Given the description of an element on the screen output the (x, y) to click on. 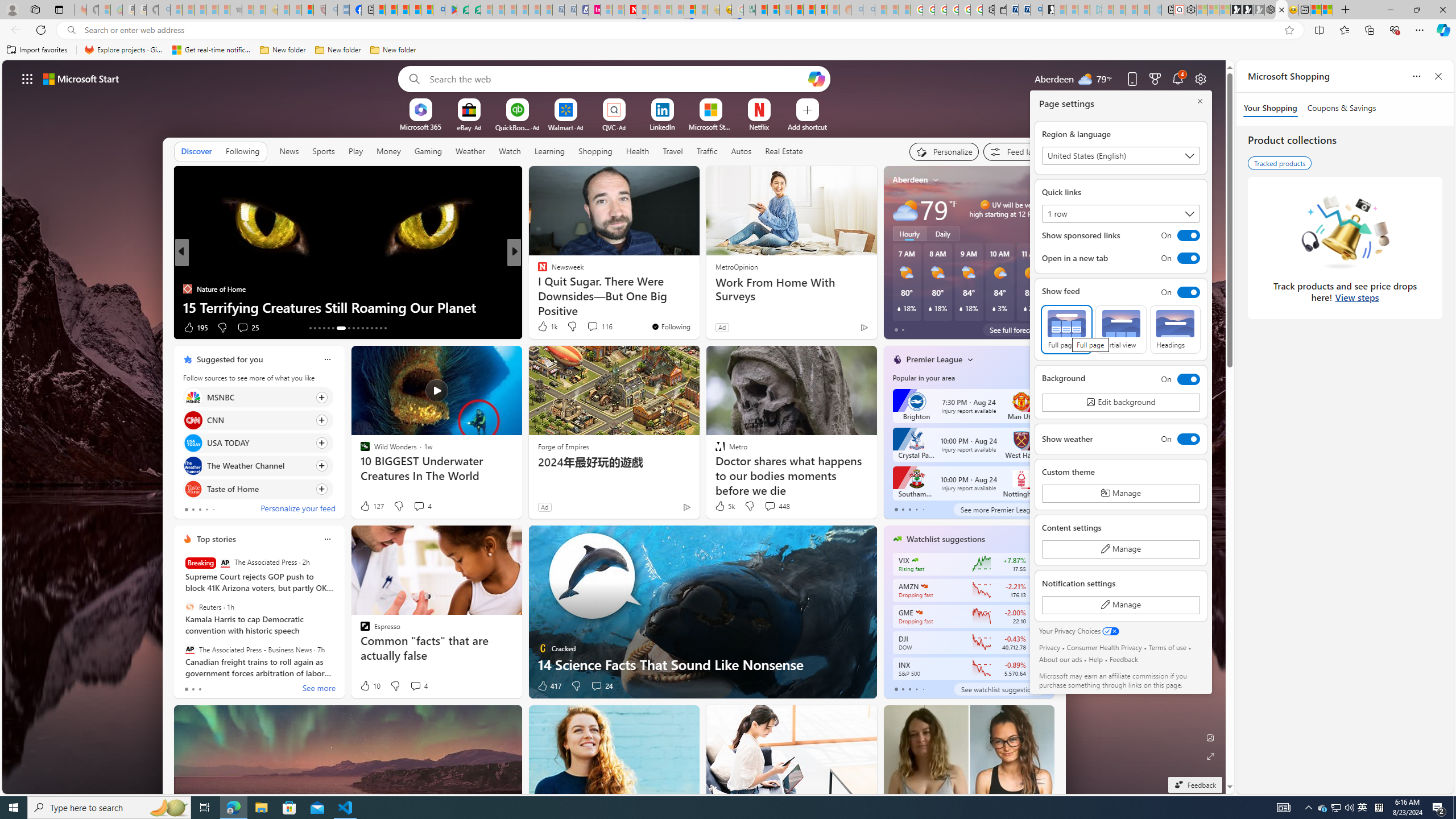
GAMESTOP CORP. (919, 612)
AutomationID: tab-15 (319, 328)
View comments 96 Comment (594, 327)
Start the conversation (589, 327)
Robert H. Shmerling, MD - Harvard Health - Sleeping (319, 9)
Jobs - lastminute.com Investor Portal (594, 9)
View comments 116 Comment (599, 326)
195 Like (194, 327)
Bluey: Let's Play! - Apps on Google Play (450, 9)
Show weather On (1120, 438)
